Given the description of an element on the screen output the (x, y) to click on. 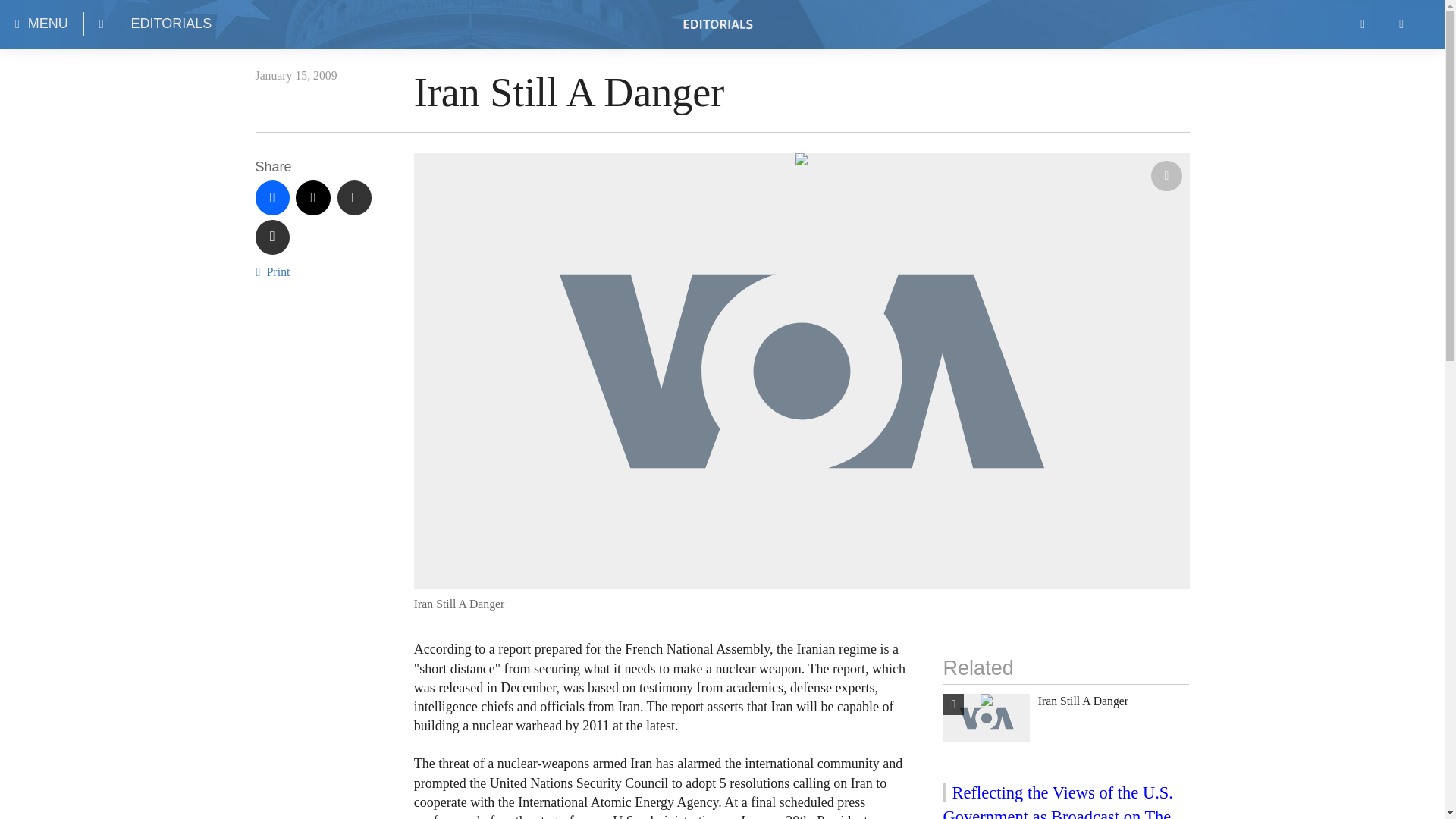
EDITORIALS (171, 23)
